Given the description of an element on the screen output the (x, y) to click on. 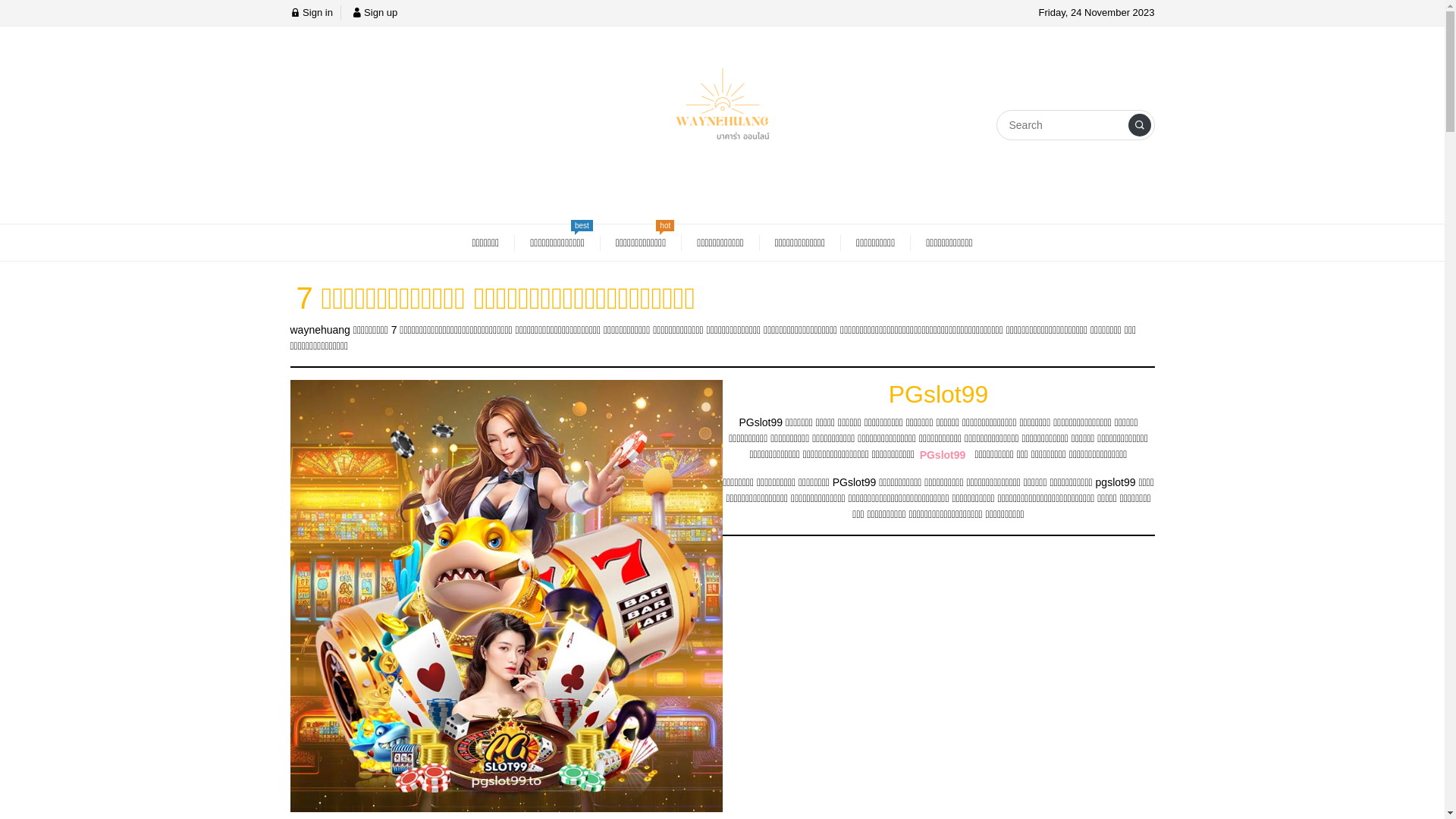
PGslot99 Element type: text (942, 454)
Sign in Element type: text (310, 12)
Sign up Element type: text (374, 12)
